Given the description of an element on the screen output the (x, y) to click on. 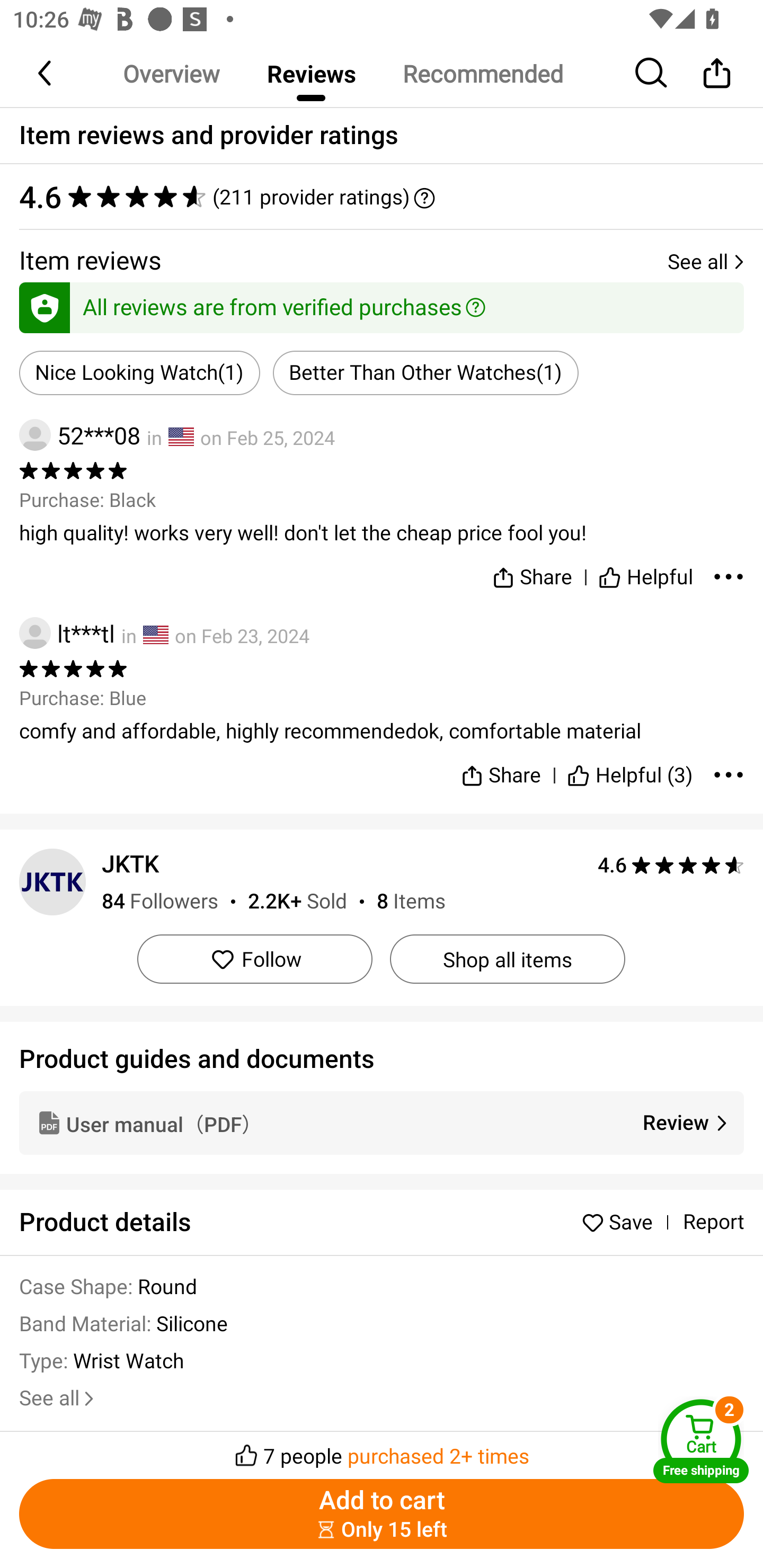
Overview (171, 72)
Reviews (311, 72)
Recommended (482, 72)
Back (46, 72)
Share (716, 72)
4.6 ‪(211 provider ratings) (381, 196)
All reviews are from verified purchases  (381, 303)
Nice Looking Watch(1) (139, 373)
Better Than Other Watches(1) (425, 373)
52***08 (79, 434)
  Share (532, 572)
  Helpful (645, 572)
lt***tl (67, 633)
  Share (500, 767)
  Helpful (3) (629, 767)
  Follow (254, 958)
Shop all items (506, 958)
User manual（PDF） Review (381, 1122)
Report (712, 1222)
 Save (621, 1221)
See all  (58, 1398)
Cart Free shipping Cart (701, 1440)
￼￼7 people purchased 2+ times (381, 1450)
Add to cart ￼￼Only 15 left (381, 1513)
